Given the description of an element on the screen output the (x, y) to click on. 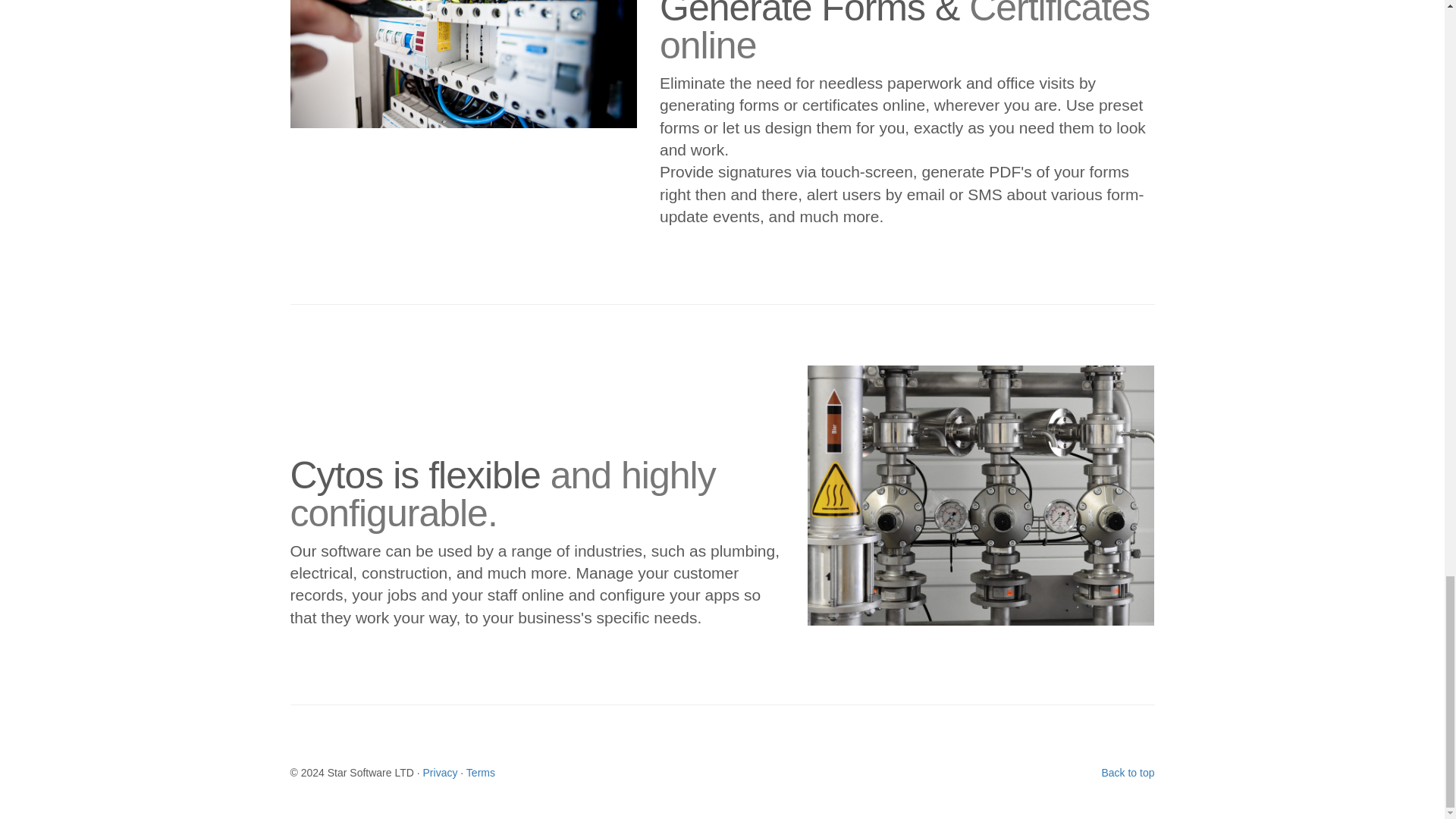
Back to top (1127, 772)
Terms (480, 772)
Privacy (440, 772)
